Given the description of an element on the screen output the (x, y) to click on. 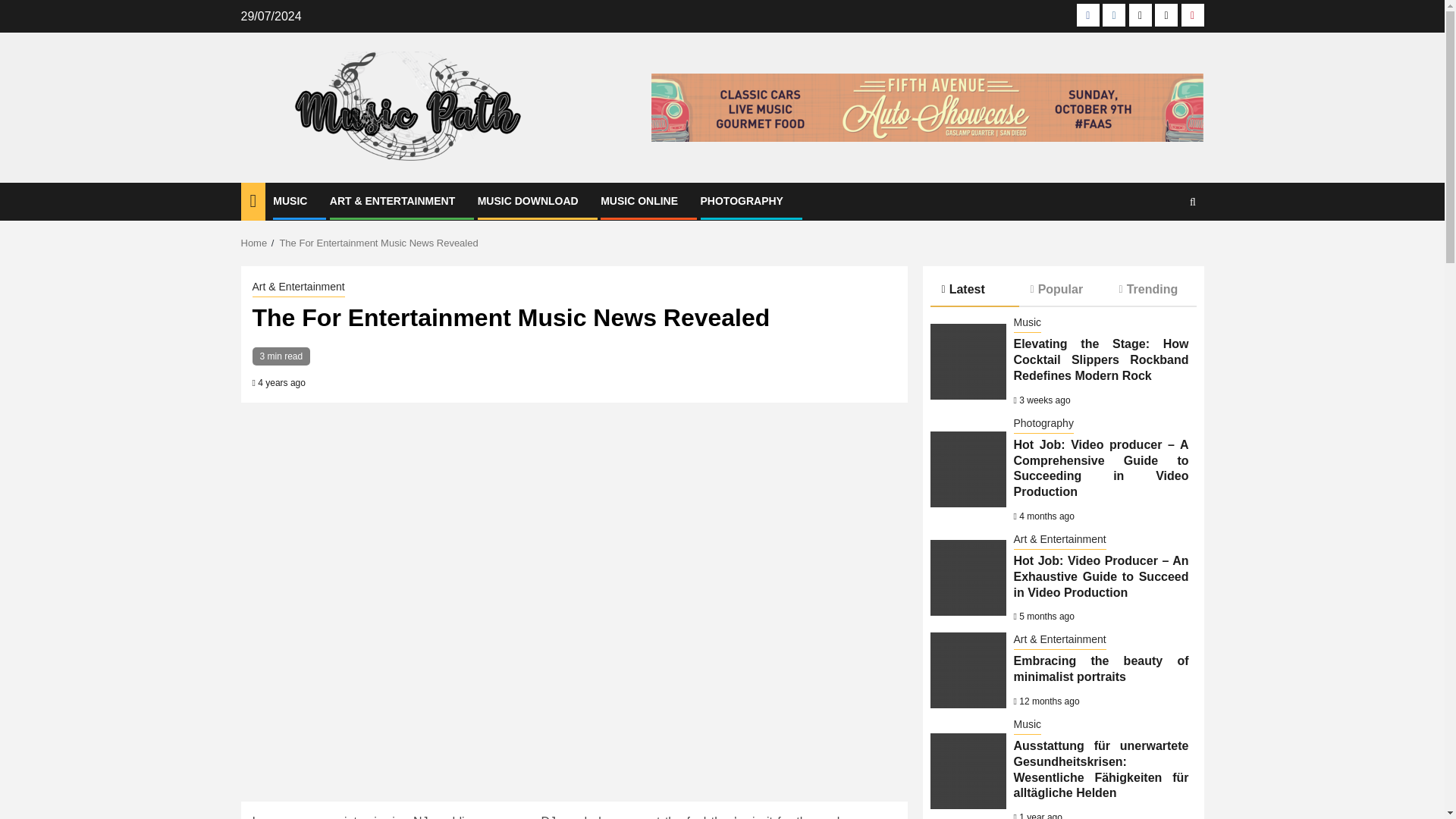
Pinterest (1192, 15)
Popular (1063, 288)
Latest (973, 289)
Search (1163, 247)
MUSIC DOWNLOAD (527, 200)
Instagram (1113, 15)
Embracing the beauty of minimalist portraits 11 (968, 670)
Twitter (1140, 15)
MUSIC ONLINE (638, 200)
MUSIC (290, 200)
Music (1027, 323)
